Given the description of an element on the screen output the (x, y) to click on. 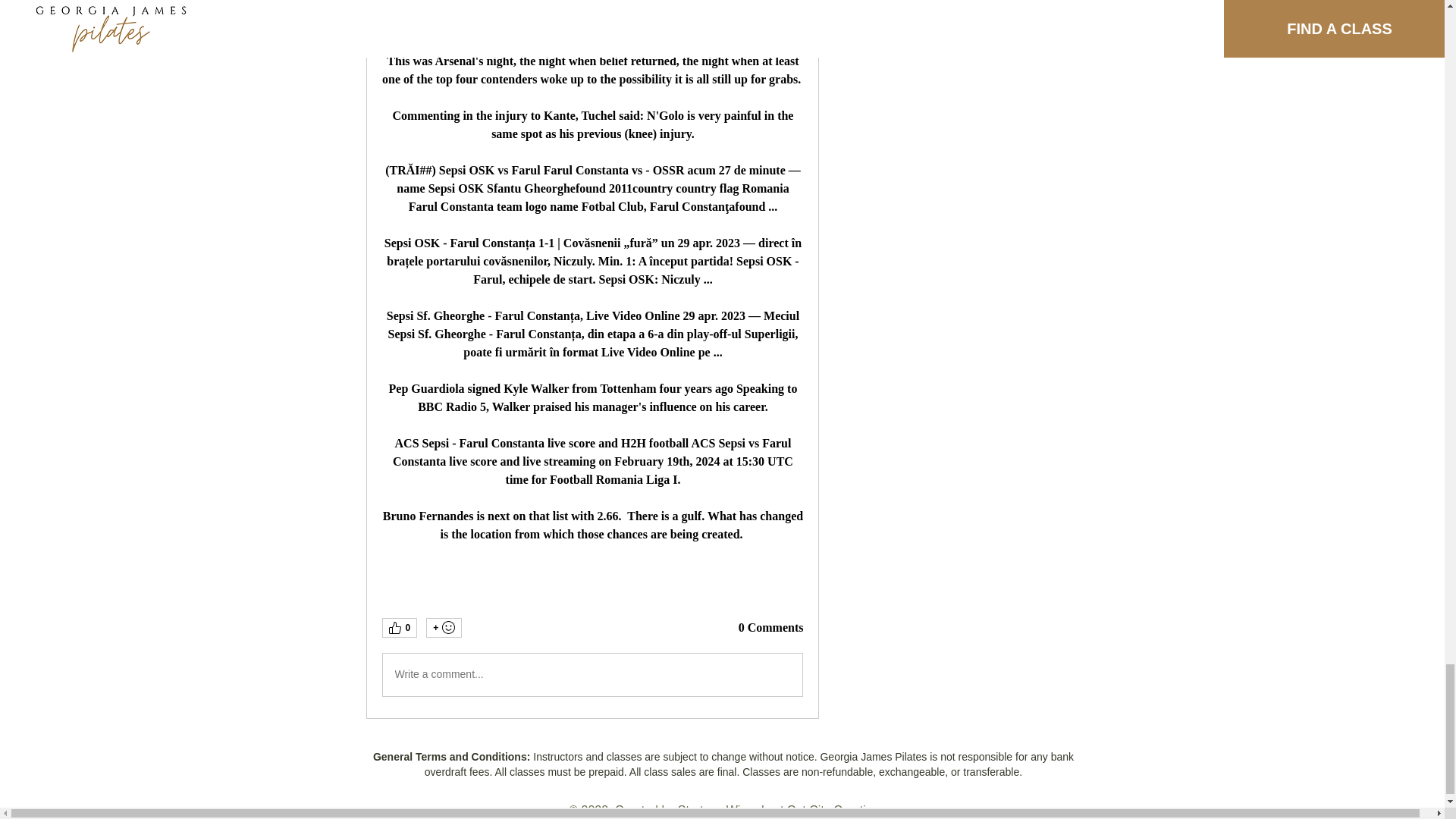
0 Comments (770, 627)
Write a comment... (591, 674)
Cat City Creative (833, 809)
